Given the description of an element on the screen output the (x, y) to click on. 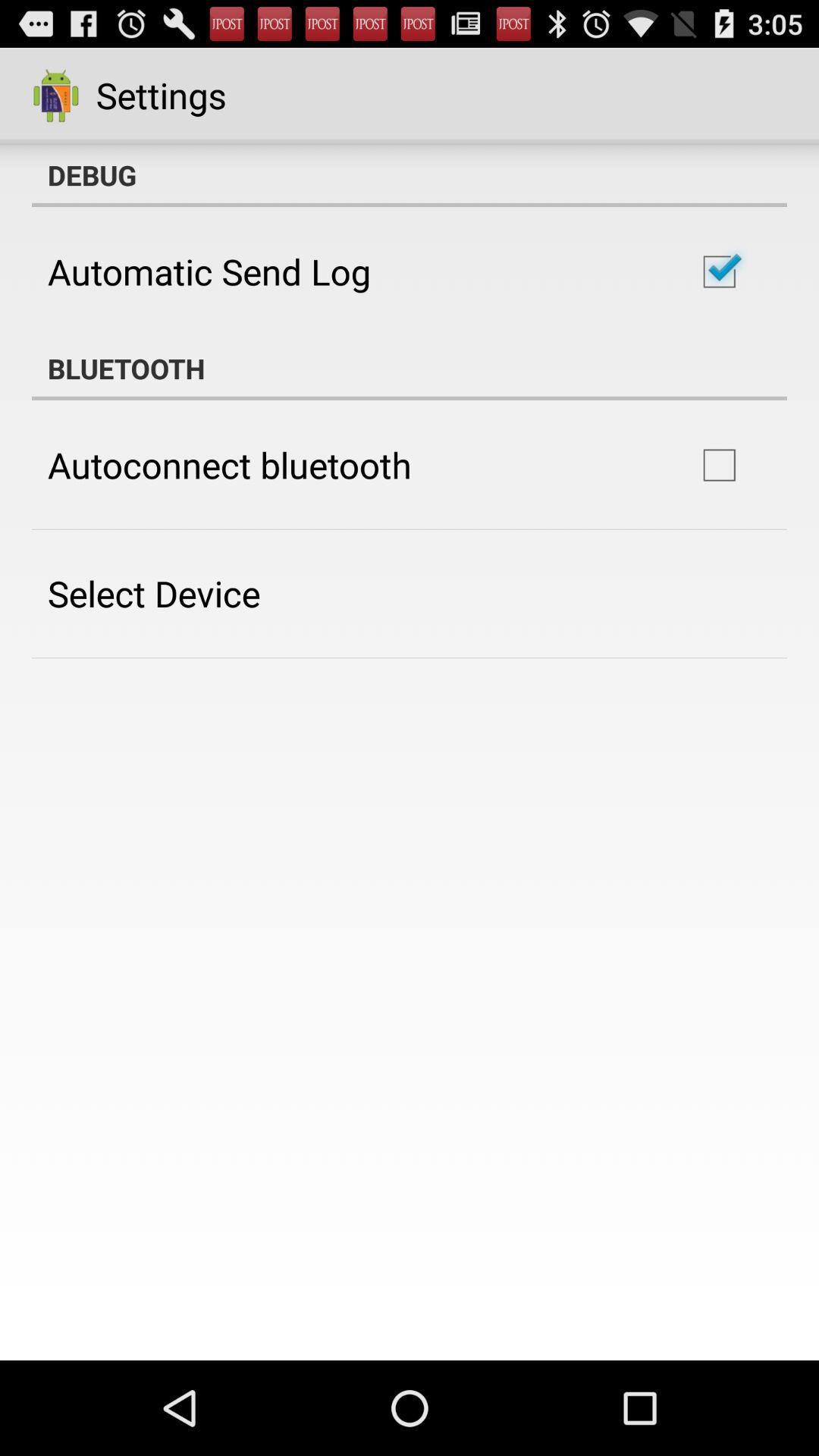
choose the app above select device item (229, 464)
